Given the description of an element on the screen output the (x, y) to click on. 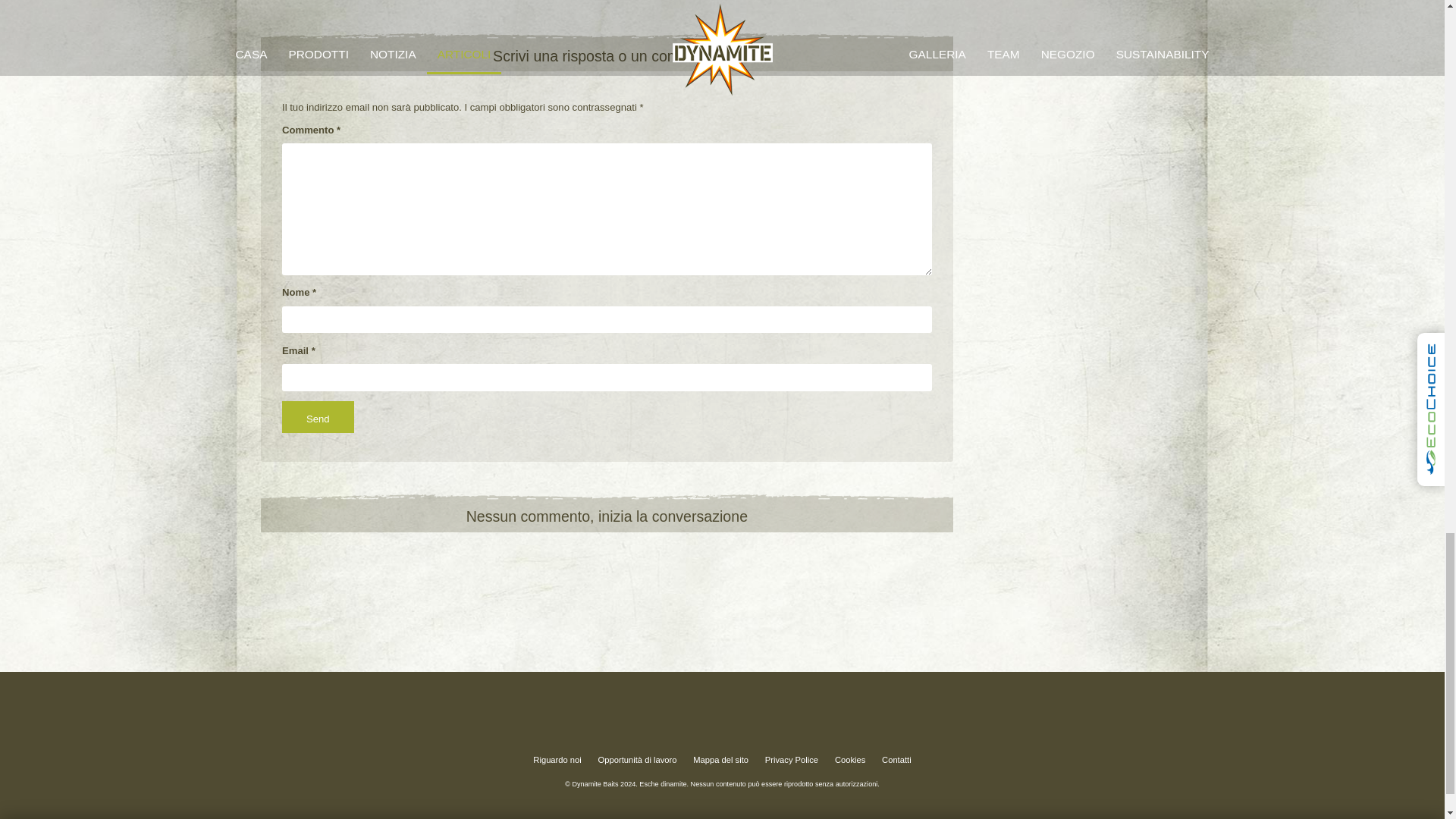
Send (317, 417)
Send (317, 417)
